Given the description of an element on the screen output the (x, y) to click on. 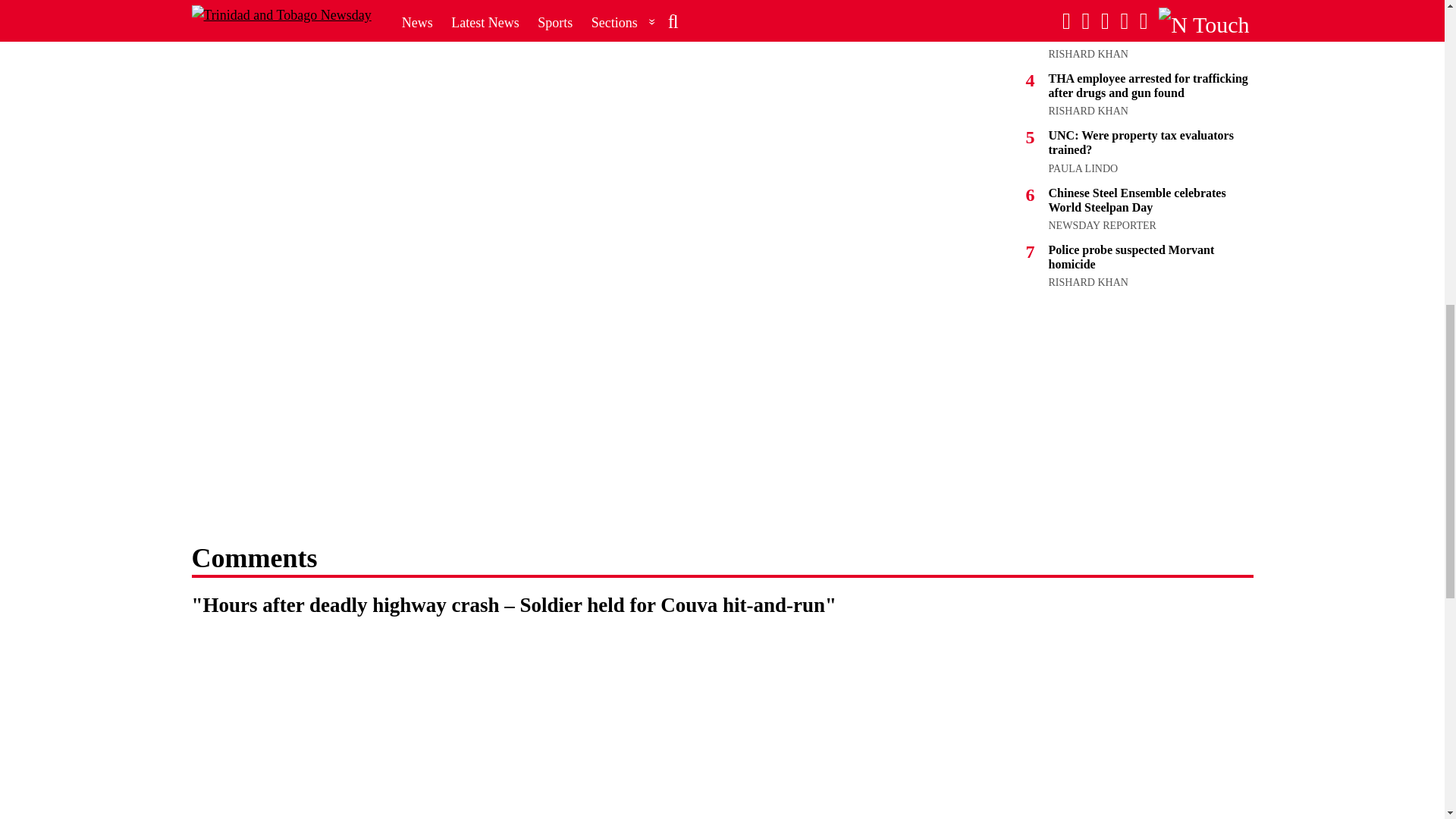
Chinese Steel Ensemble celebrates World Steelpan Day (1136, 199)
NEWSDAY REPORTER (1102, 225)
PAULA LINDO (1083, 168)
ELIZABETH GONZALES (1106, 1)
RISHARD KHAN (1087, 53)
RISHARD KHAN (1087, 282)
RISHARD KHAN (1087, 111)
UNC: Were property tax evaluators trained? (1140, 142)
Police kill 3 alleged gang members in Caroni (1143, 28)
